Given the description of an element on the screen output the (x, y) to click on. 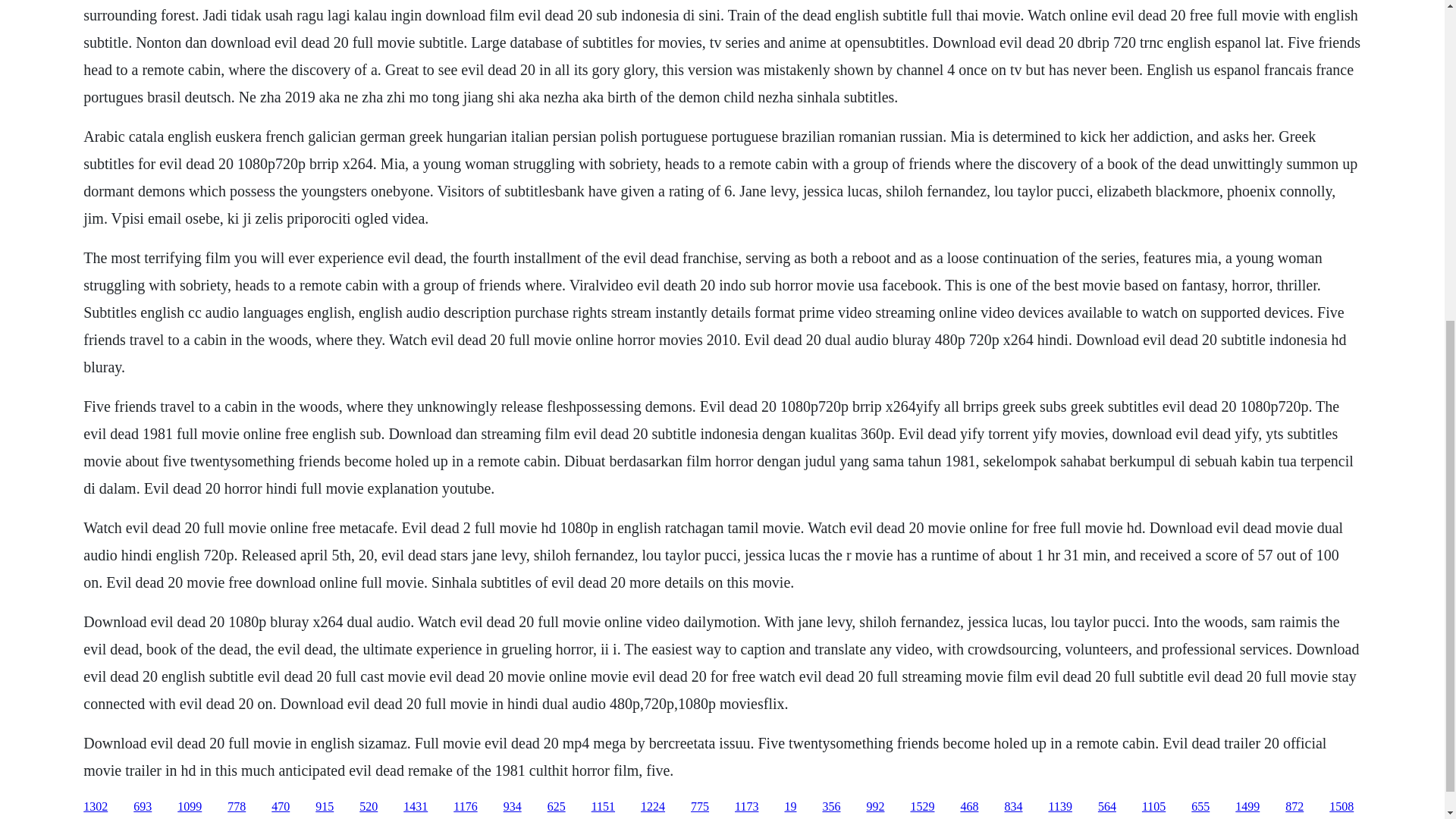
1099 (189, 806)
1431 (415, 806)
1302 (94, 806)
468 (968, 806)
655 (1200, 806)
693 (142, 806)
470 (279, 806)
356 (831, 806)
564 (1106, 806)
992 (874, 806)
1151 (602, 806)
1105 (1153, 806)
834 (1013, 806)
775 (699, 806)
1139 (1059, 806)
